Given the description of an element on the screen output the (x, y) to click on. 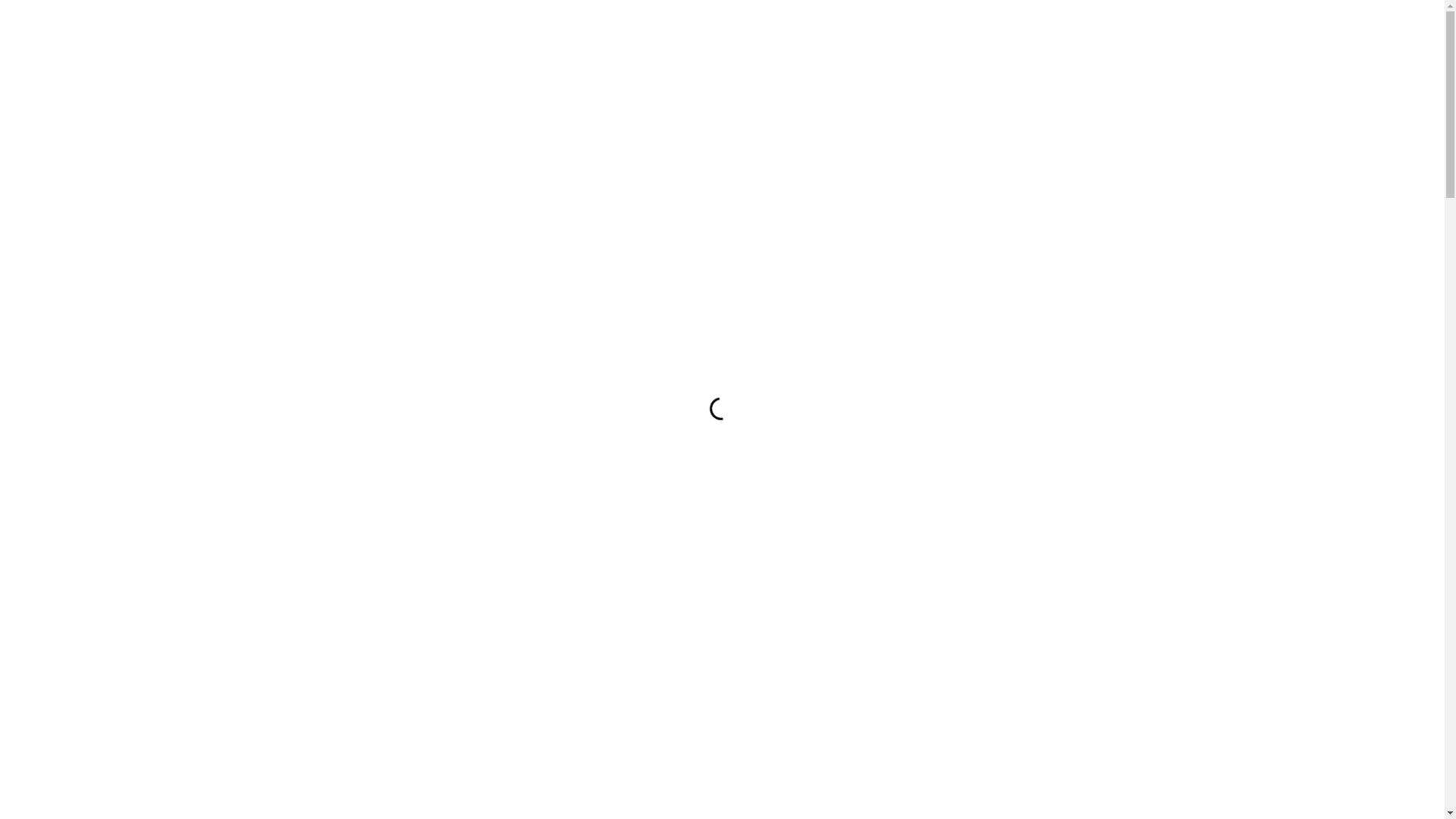
Orchester Element type: text (41, 67)
E-Mail Adresse Element type: hover (999, 524)
Orchester Element type: text (999, 389)
Home Element type: text (31, 28)
Musikalische Leitung Element type: text (999, 407)
Jetzt abonnieren Element type: text (999, 579)
Kontakt Element type: text (36, 106)
Musikalische Leitung Element type: text (68, 86)
